Given the description of an element on the screen output the (x, y) to click on. 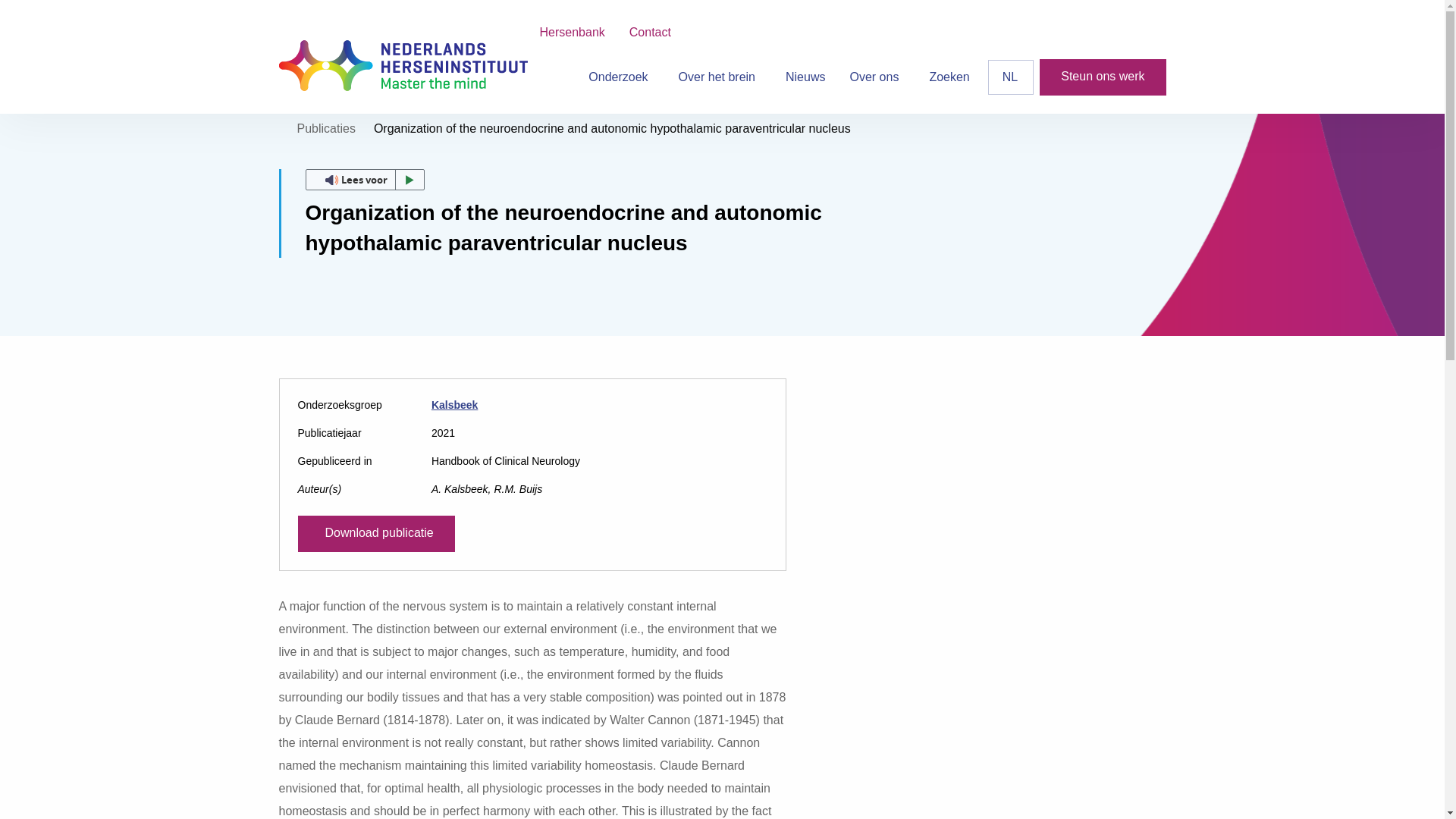
Zoeken (949, 76)
Onderzoek (620, 76)
Contact (649, 32)
Hersenbank (572, 32)
Over ons (877, 76)
Nieuws (805, 76)
Ga naar Publicaties. (326, 128)
Publicaties (326, 128)
Over het brein (719, 76)
Laat de tekst voorlezen met ReadSpeaker webReader (363, 179)
